Given the description of an element on the screen output the (x, y) to click on. 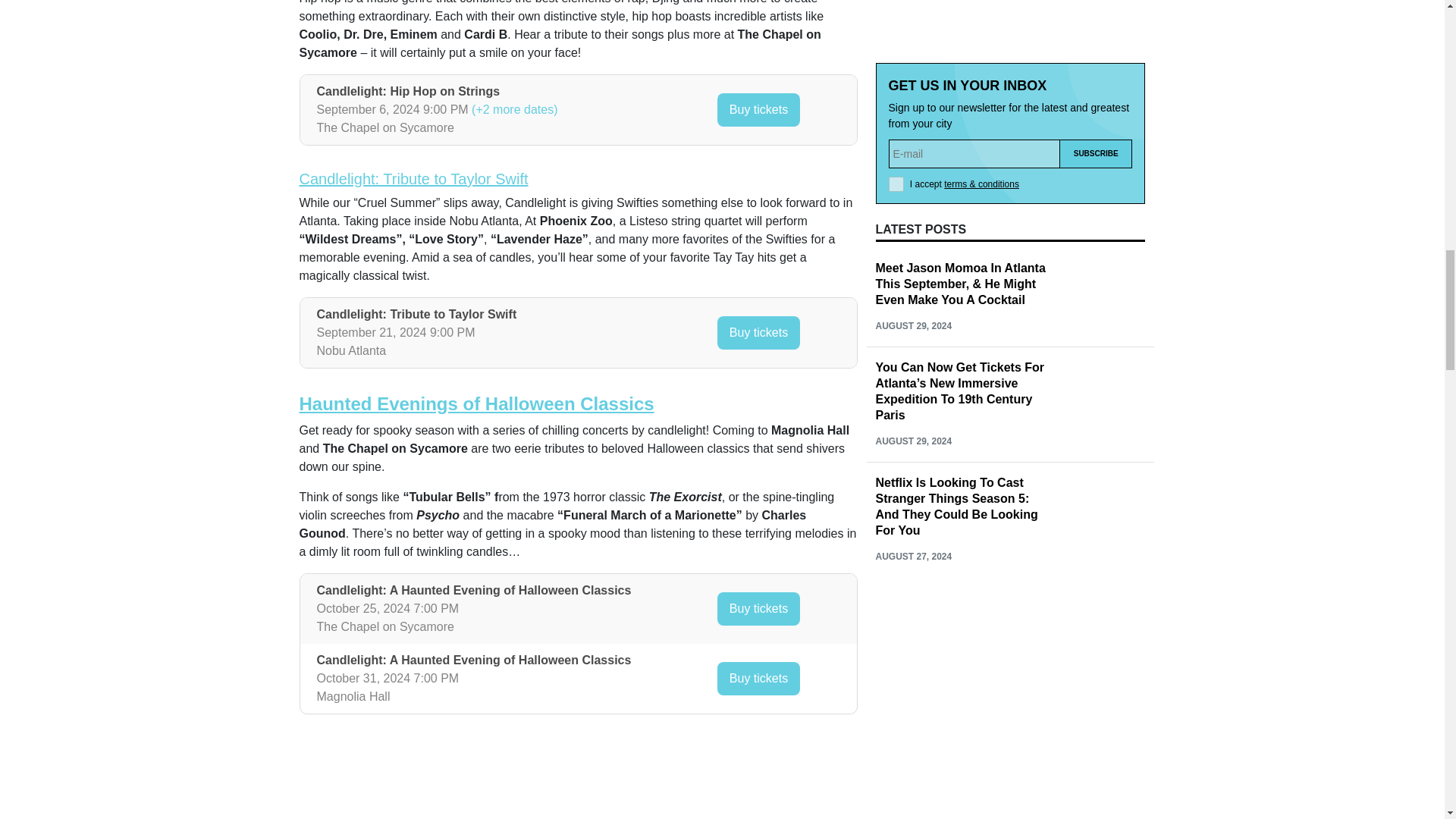
Buy tickets (758, 608)
Buy tickets (758, 109)
Buy tickets (758, 678)
Buy tickets (758, 332)
Candlelight: Tribute to Taylor Swift (412, 178)
Haunted Evenings of Halloween Classics (475, 403)
